Given the description of an element on the screen output the (x, y) to click on. 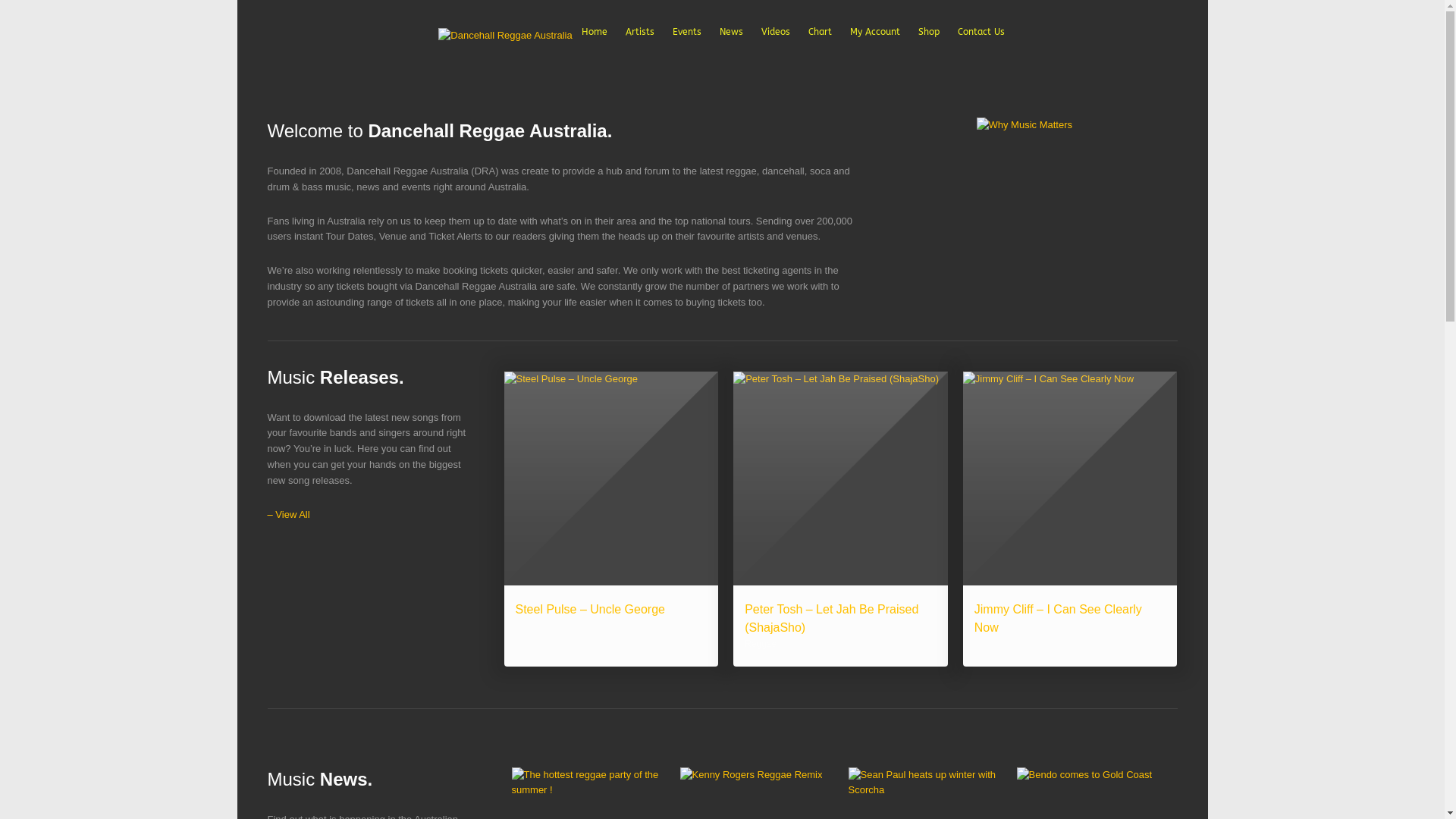
Shop Element type: text (928, 32)
Chart Element type: text (819, 32)
Events Element type: text (686, 32)
Artists Element type: text (639, 32)
Home Element type: text (594, 32)
Contact Us Element type: text (980, 32)
Videos Element type: text (775, 32)
News Element type: text (731, 32)
My Account Element type: text (874, 32)
Dancehall Reggae Australia Element type: hover (504, 35)
